Given the description of an element on the screen output the (x, y) to click on. 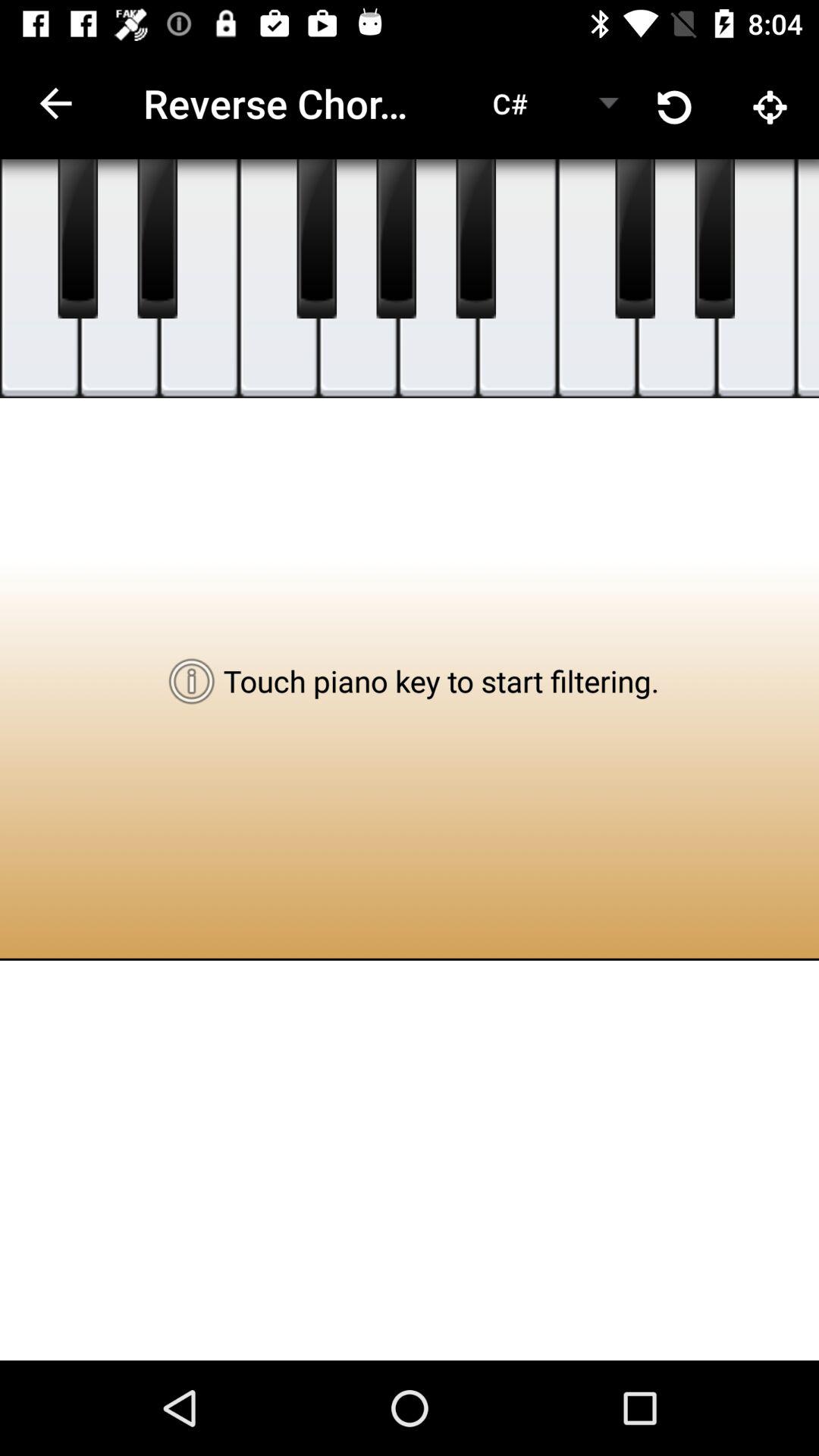
natural note (676, 278)
